Given the description of an element on the screen output the (x, y) to click on. 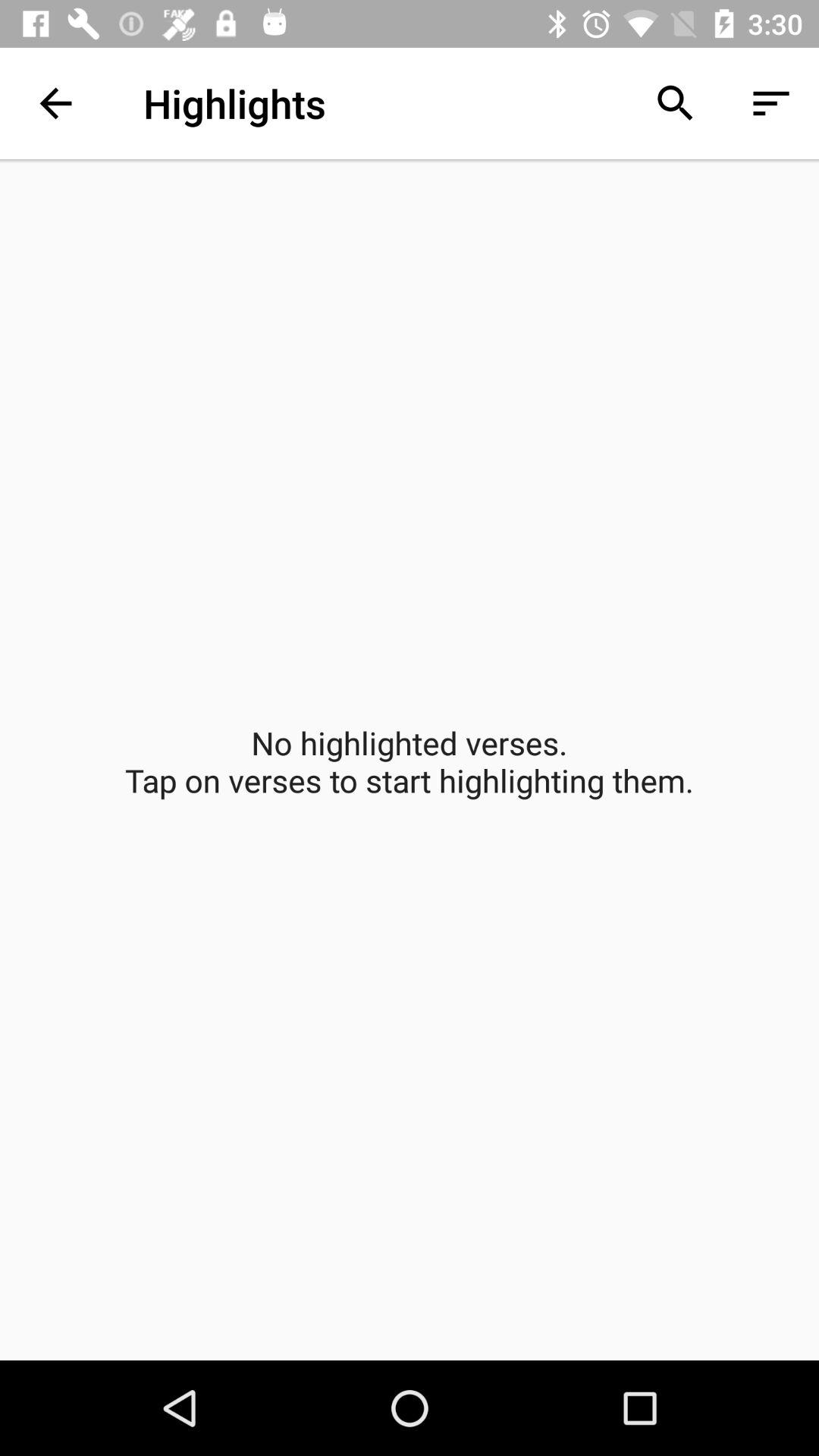
press the item next to highlights (55, 103)
